Given the description of an element on the screen output the (x, y) to click on. 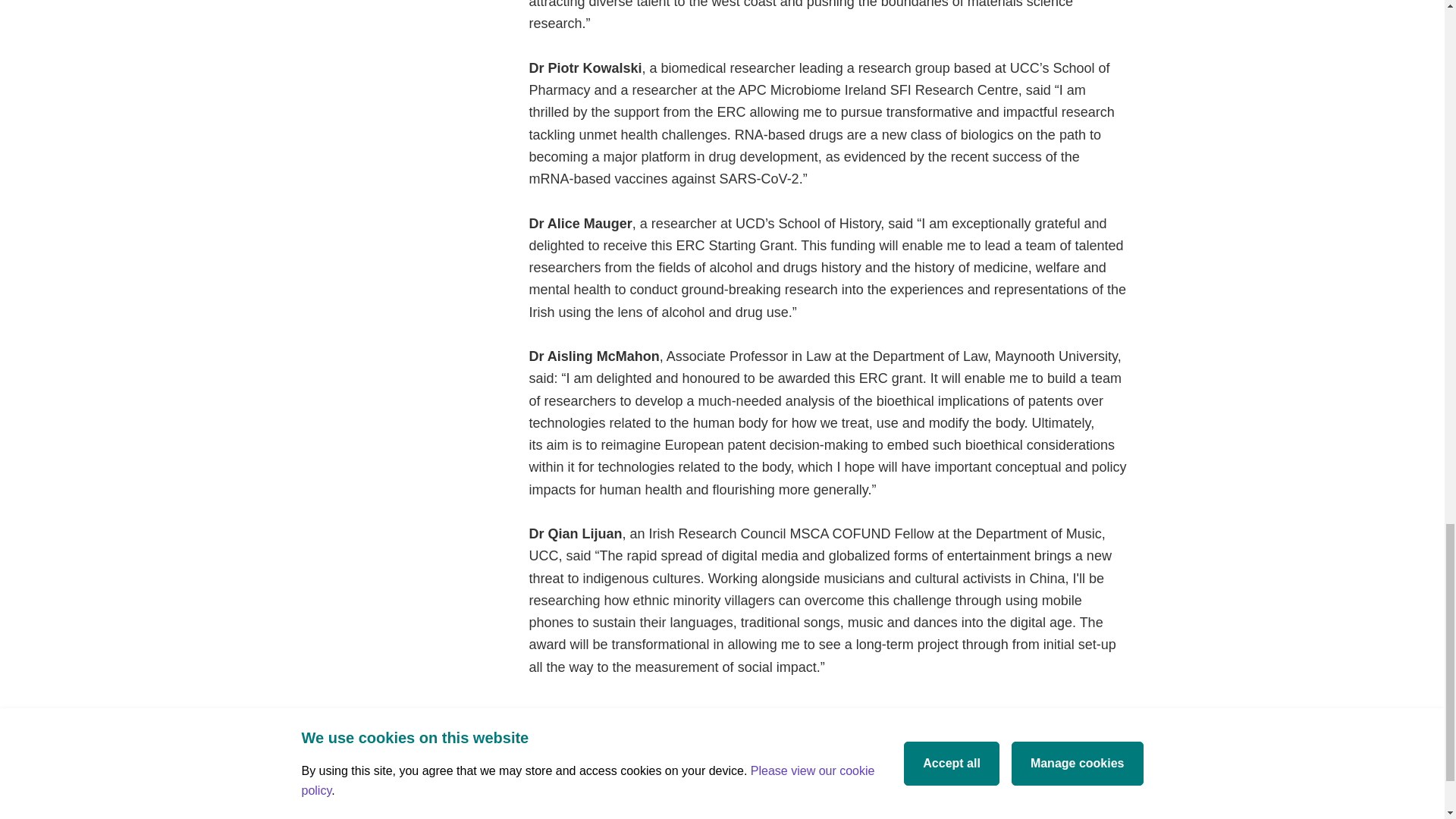
Visit SFI on Twitter (1218, 752)
Visit SFI on Facebook (1183, 752)
Visit SFI on YouTube (1289, 752)
Visit SFI on LinkedIn (1253, 752)
Visit SFI on Instagram (1325, 752)
